Given the description of an element on the screen output the (x, y) to click on. 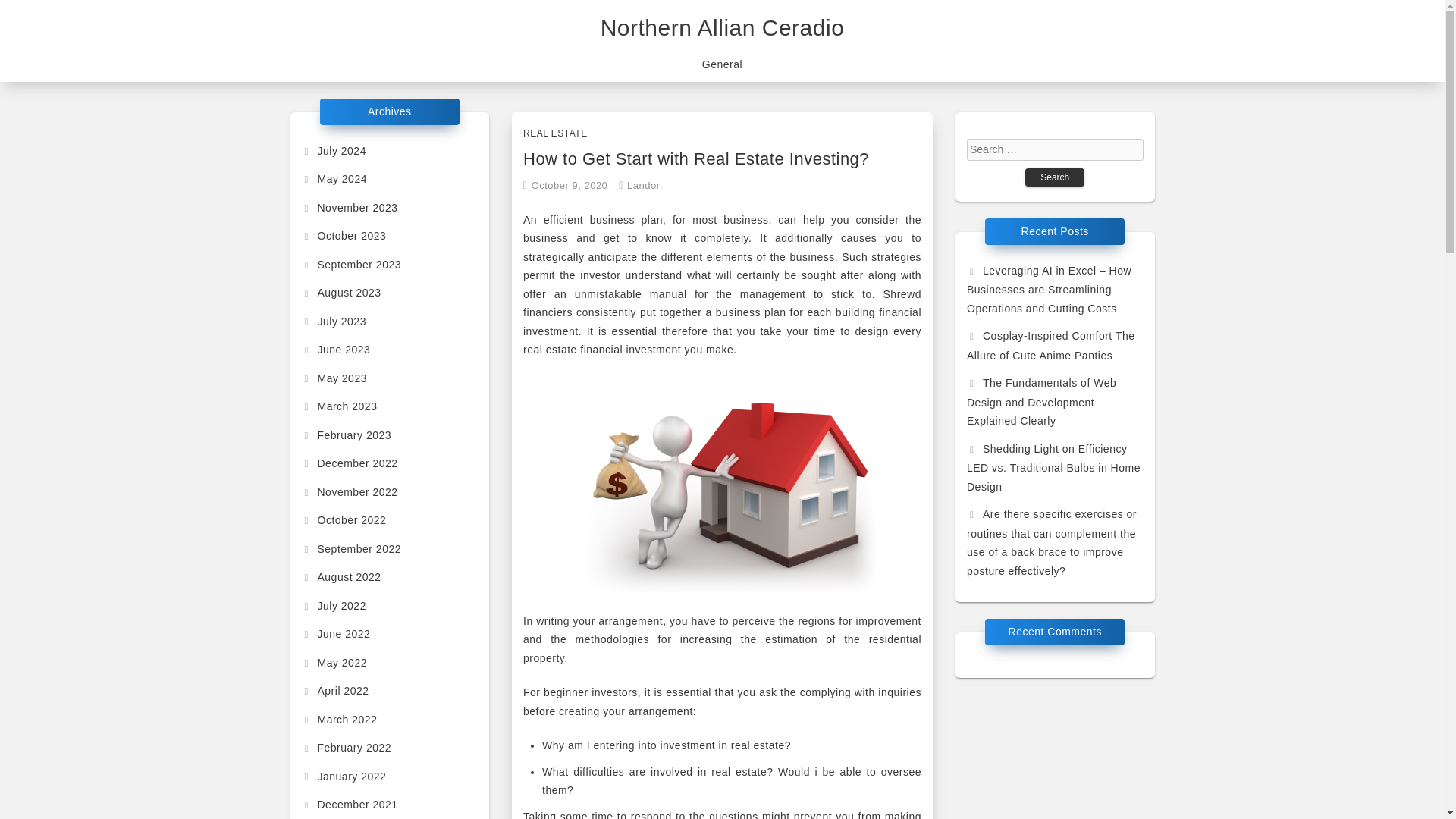
December 2021 (349, 804)
Northern Allian Ceradio (721, 27)
June 2023 (336, 349)
June 2022 (336, 633)
July 2022 (333, 604)
May 2023 (333, 377)
January 2022 (344, 776)
December 2022 (349, 463)
July 2024 (333, 150)
October 2022 (344, 520)
